Given the description of an element on the screen output the (x, y) to click on. 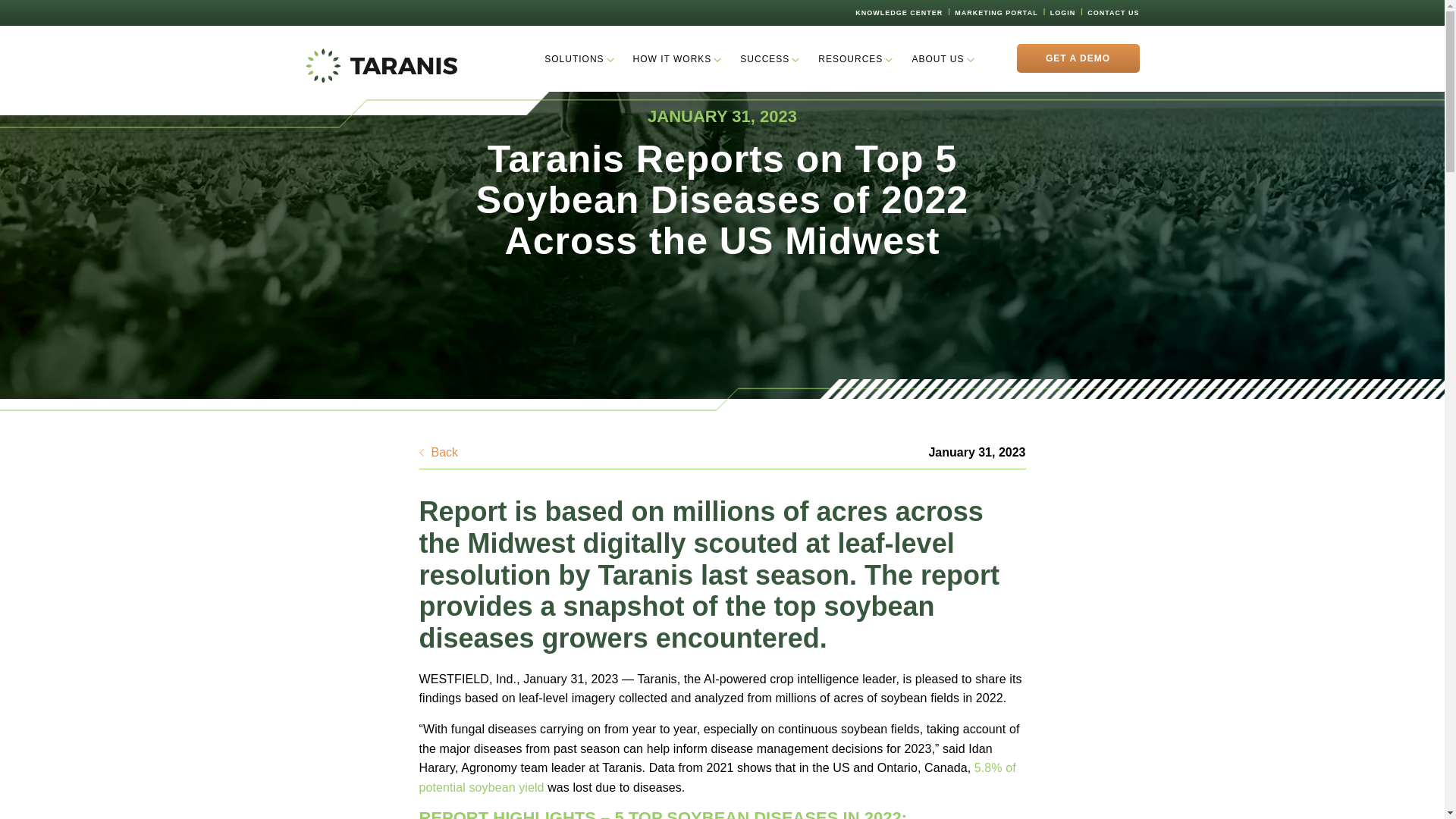
SUCCESS (764, 59)
RESOURCES (850, 59)
CONTACT US (1112, 12)
LOGIN (1062, 12)
SOLUTIONS (574, 59)
MARKETING PORTAL (995, 12)
ABOUT US (937, 59)
Back (438, 452)
GET A DEMO (1077, 58)
HOW IT WORKS (672, 59)
